Given the description of an element on the screen output the (x, y) to click on. 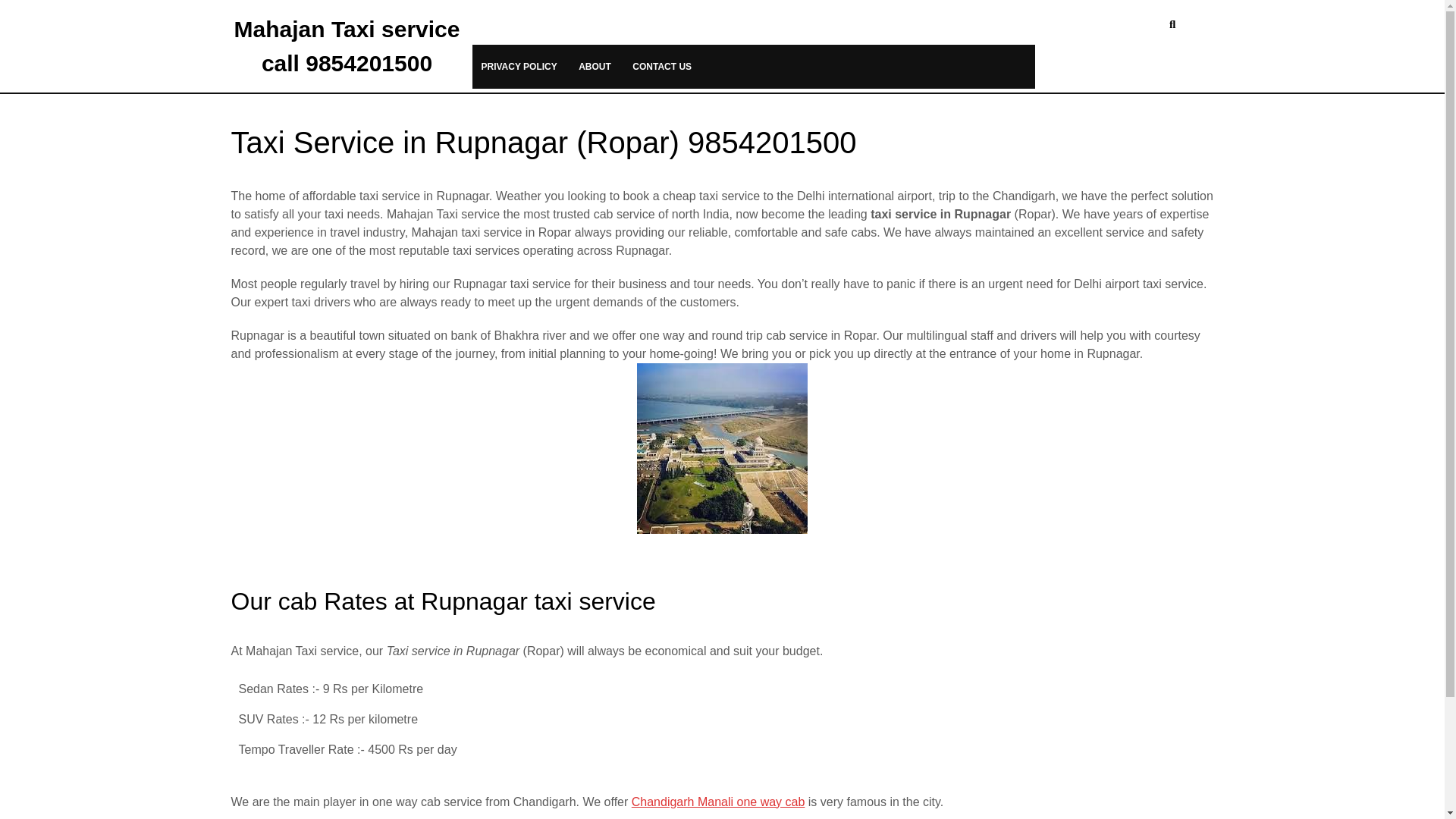
PRIVACY POLICY (518, 66)
CONTACT US (661, 66)
ABOUT (594, 66)
Mahajan Taxi service call 9854201500 (347, 46)
Chandigarh Manali one way cab (718, 801)
